Given the description of an element on the screen output the (x, y) to click on. 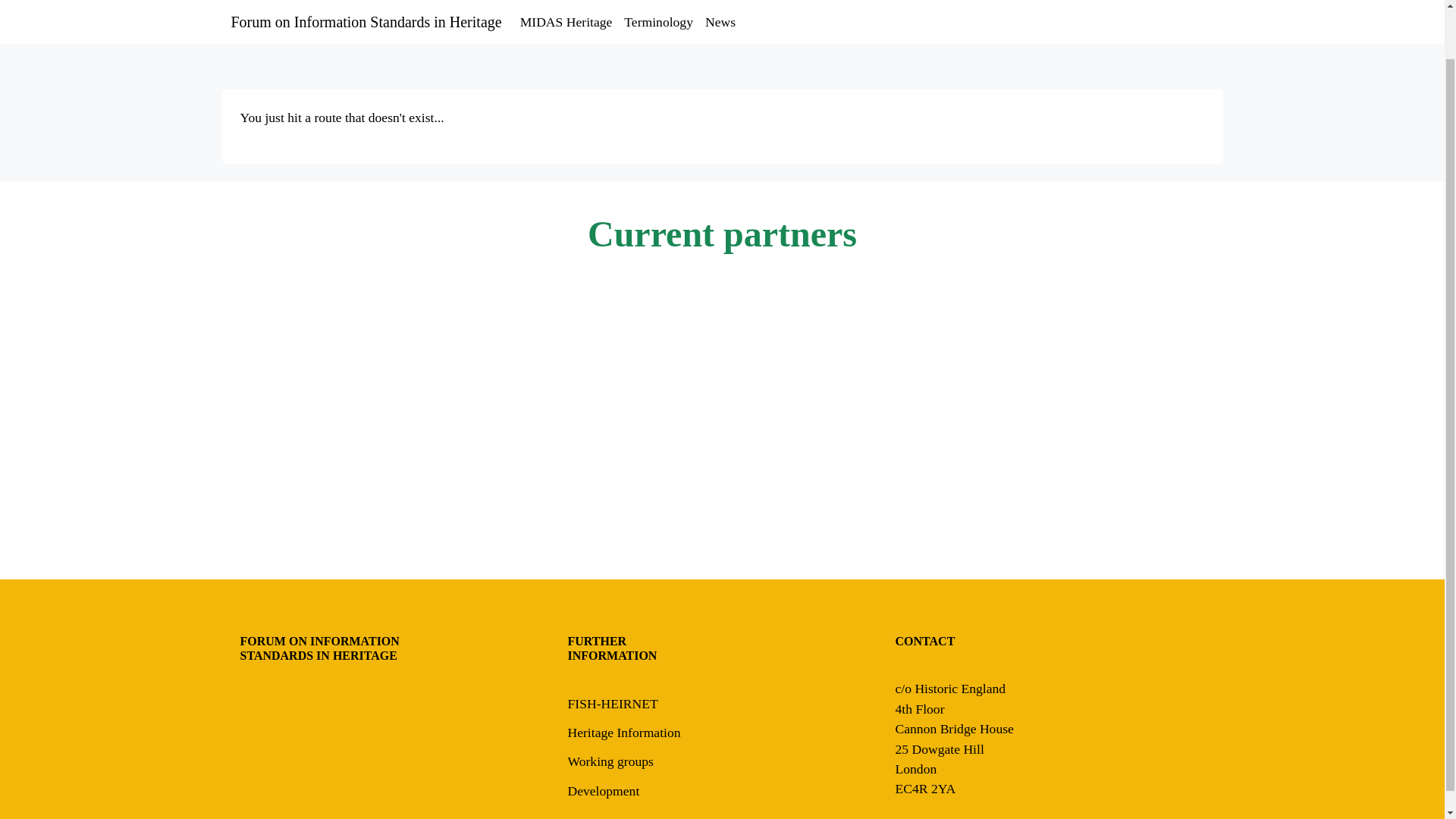
FISH-HEIRNET (612, 703)
Development (603, 790)
Heritage Information (623, 732)
Working groups (609, 761)
